Given the description of an element on the screen output the (x, y) to click on. 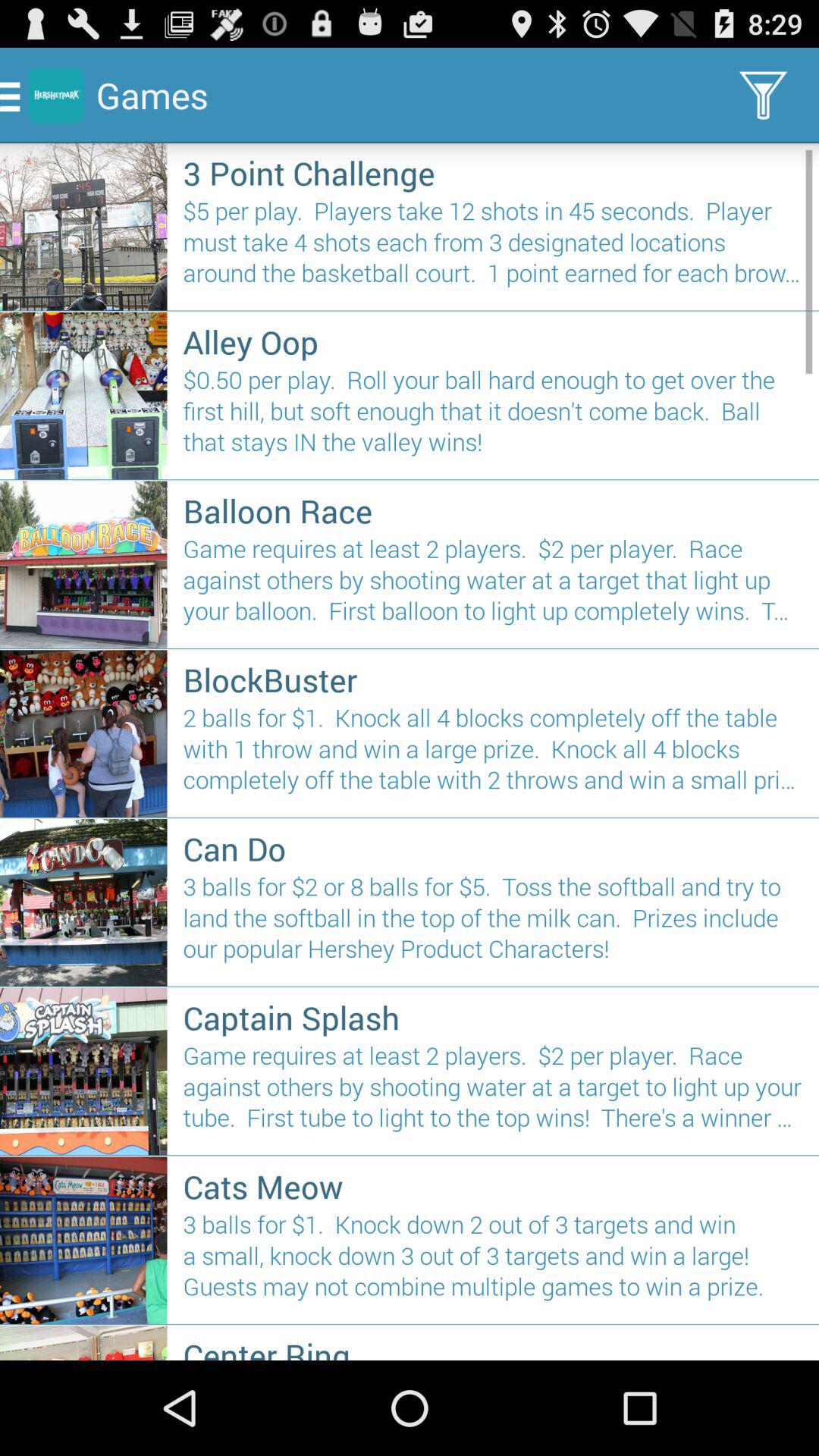
open blockbuster (493, 679)
